Given the description of an element on the screen output the (x, y) to click on. 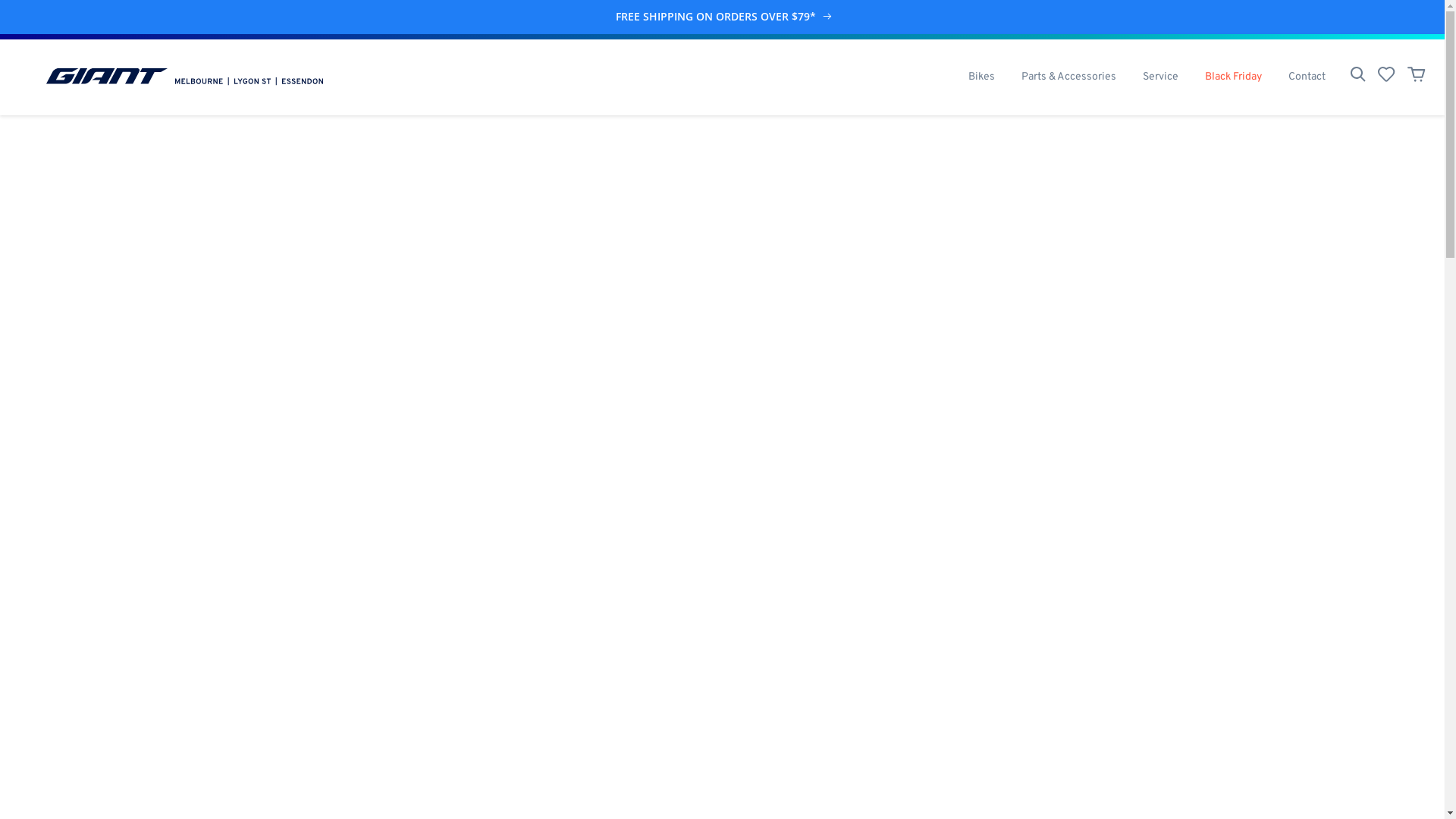
Service Element type: text (1160, 77)
Black Friday Element type: text (1232, 77)
Bikes Element type: text (980, 77)
Contact Element type: text (1306, 77)
Parts & Accessories Element type: text (1068, 77)
